Given the description of an element on the screen output the (x, y) to click on. 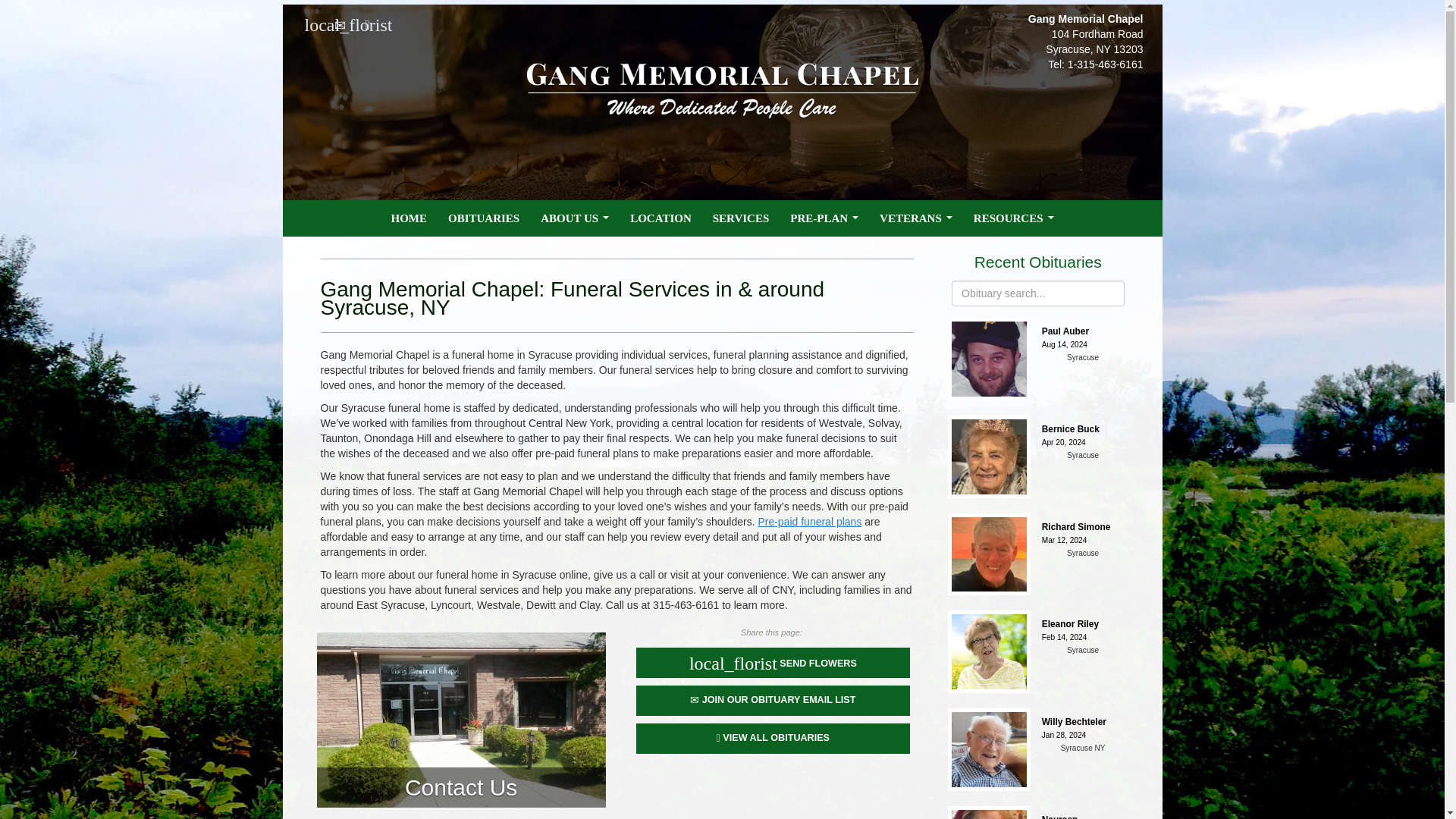
LOCATION (660, 217)
ABOUT US... (574, 217)
PRE-PLAN... (823, 217)
OBITUARIES (483, 217)
Contact Us (340, 24)
VETERANS... (915, 217)
Send Flowers (313, 24)
1-315-463-6161 (1104, 64)
SERVICES (740, 217)
RESOURCES... (1013, 217)
